Given the description of an element on the screen output the (x, y) to click on. 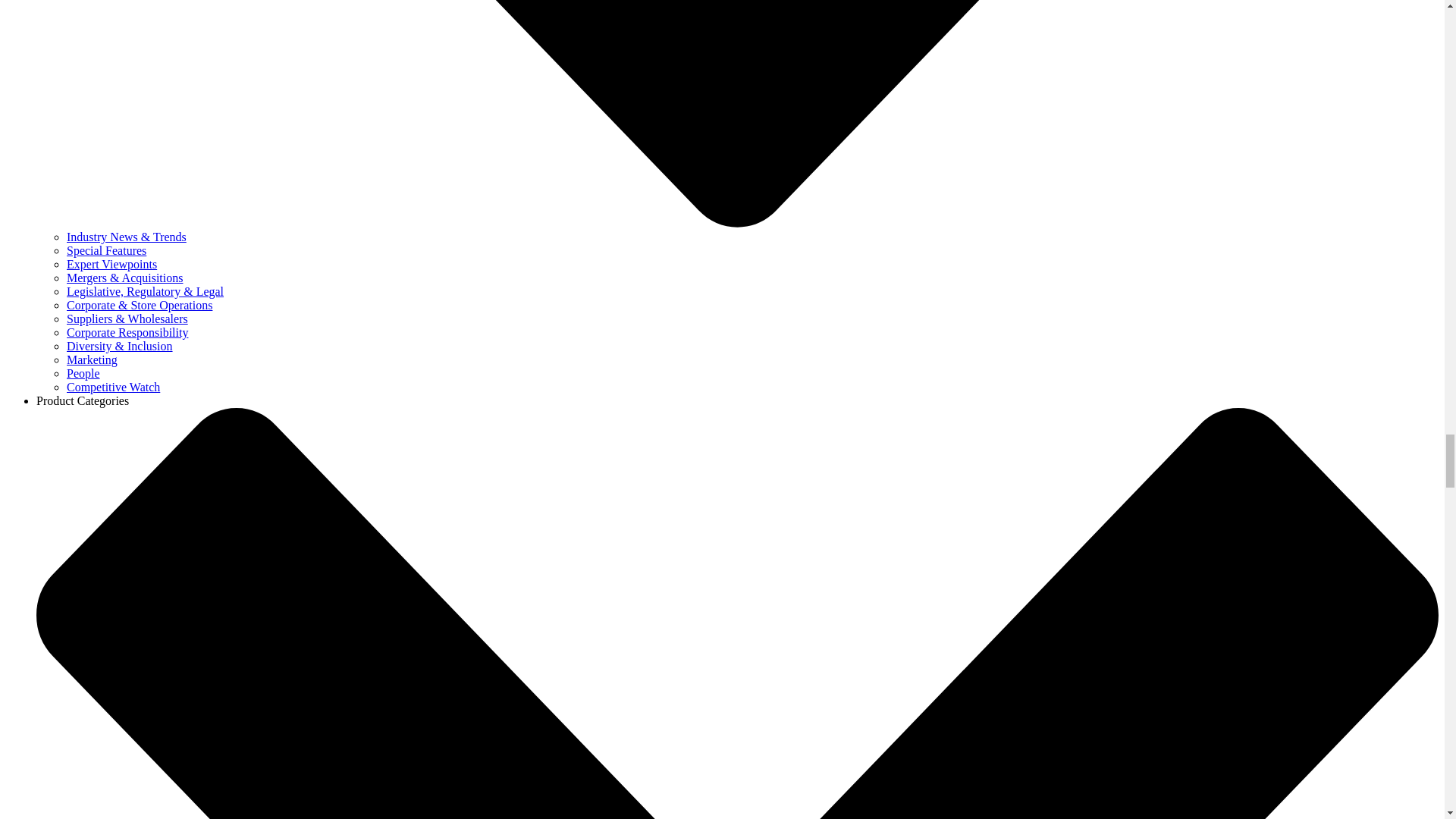
Product Categories (82, 400)
Corporate Responsibility (126, 332)
People (83, 373)
Marketing (91, 359)
Competitive Watch (113, 386)
Special Features (106, 250)
Expert Viewpoints (111, 264)
